Given the description of an element on the screen output the (x, y) to click on. 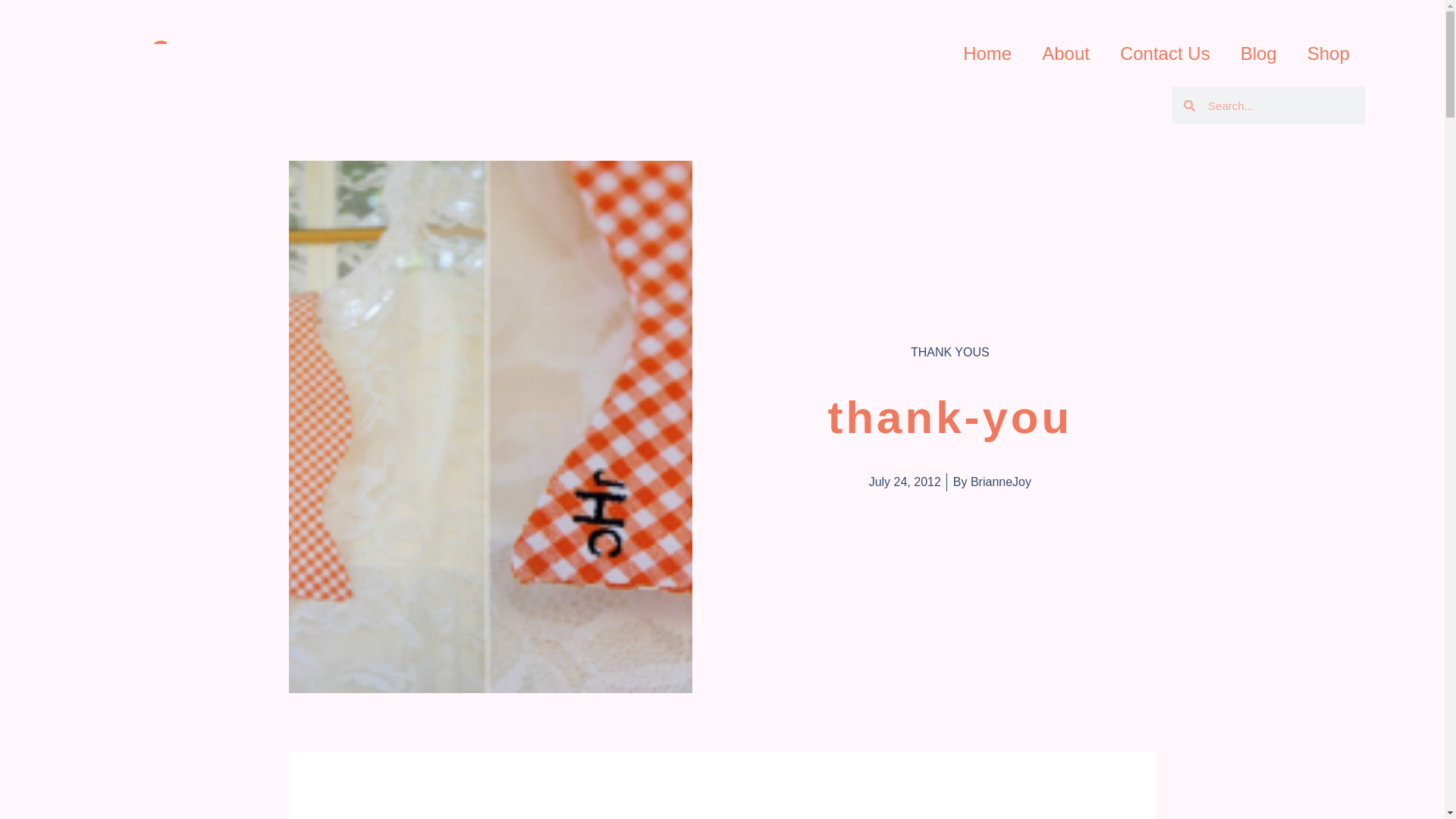
Contact Us (1165, 53)
Blog (1258, 53)
Shop (1328, 53)
Home (986, 53)
About (1065, 53)
